Given the description of an element on the screen output the (x, y) to click on. 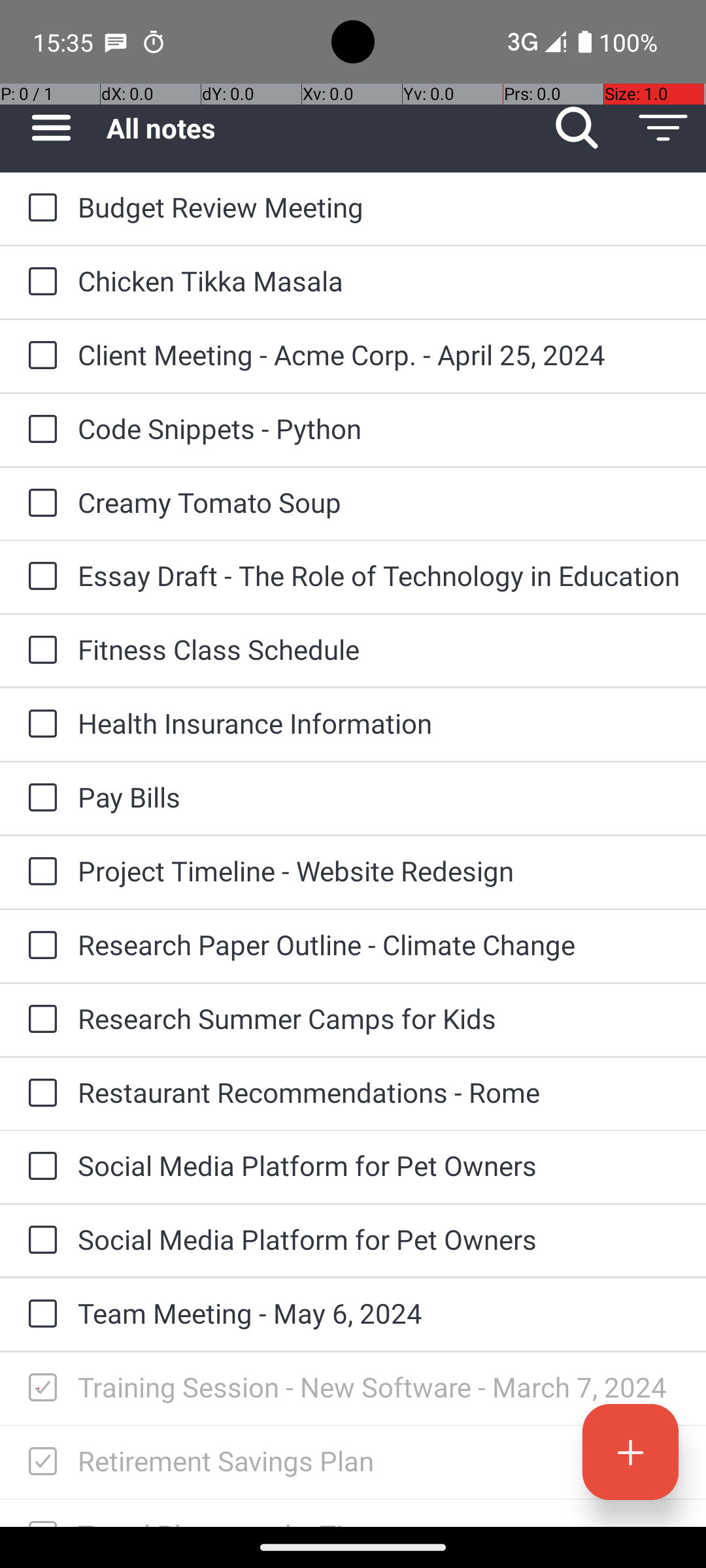
to-do: Budget Review Meeting Element type: android.widget.CheckBox (38, 208)
Budget Review Meeting Element type: android.widget.TextView (378, 206)
to-do: Chicken Tikka Masala Element type: android.widget.CheckBox (38, 282)
Chicken Tikka Masala Element type: android.widget.TextView (378, 280)
to-do: Client Meeting - Acme Corp. - April 25, 2024 Element type: android.widget.CheckBox (38, 356)
Client Meeting - Acme Corp. - April 25, 2024 Element type: android.widget.TextView (378, 354)
to-do: Code Snippets - Python Element type: android.widget.CheckBox (38, 429)
Code Snippets - Python Element type: android.widget.TextView (378, 427)
to-do: Creamy Tomato Soup Element type: android.widget.CheckBox (38, 503)
Creamy Tomato Soup Element type: android.widget.TextView (378, 501)
to-do: Fitness Class Schedule Element type: android.widget.CheckBox (38, 650)
Fitness Class Schedule Element type: android.widget.TextView (378, 648)
to-do: Health Insurance Information Element type: android.widget.CheckBox (38, 724)
Health Insurance Information Element type: android.widget.TextView (378, 722)
to-do: Pay Bills Element type: android.widget.CheckBox (38, 798)
Pay Bills Element type: android.widget.TextView (378, 796)
to-do: Project Timeline - Website Redesign Element type: android.widget.CheckBox (38, 872)
Project Timeline - Website Redesign Element type: android.widget.TextView (378, 870)
to-do: Research Paper Outline - Climate Change Element type: android.widget.CheckBox (38, 945)
Research Paper Outline - Climate Change Element type: android.widget.TextView (378, 944)
to-do: Research Summer Camps for Kids Element type: android.widget.CheckBox (38, 1019)
Research Summer Camps for Kids Element type: android.widget.TextView (378, 1017)
to-do: Restaurant Recommendations - Rome Element type: android.widget.CheckBox (38, 1093)
Restaurant Recommendations - Rome Element type: android.widget.TextView (378, 1091)
to-do: Social Media Platform for Pet Owners Element type: android.widget.CheckBox (38, 1166)
Social Media Platform for Pet Owners Element type: android.widget.TextView (378, 1164)
to-do: Team Meeting - May 6, 2024 Element type: android.widget.CheckBox (38, 1314)
Team Meeting - May 6, 2024 Element type: android.widget.TextView (378, 1312)
to-do: Training Session - New Software - March 7, 2024 Element type: android.widget.CheckBox (38, 1388)
Training Session - New Software - March 7, 2024 Element type: android.widget.TextView (378, 1386)
to-do: Retirement Savings Plan Element type: android.widget.CheckBox (38, 1462)
Retirement Savings Plan Element type: android.widget.TextView (378, 1460)
to-do: Travel Photography Tips Element type: android.widget.CheckBox (38, 1513)
Travel Photography Tips Element type: android.widget.TextView (378, 1520)
 Element type: android.widget.TextView (42, 1388)
